Given the description of an element on the screen output the (x, y) to click on. 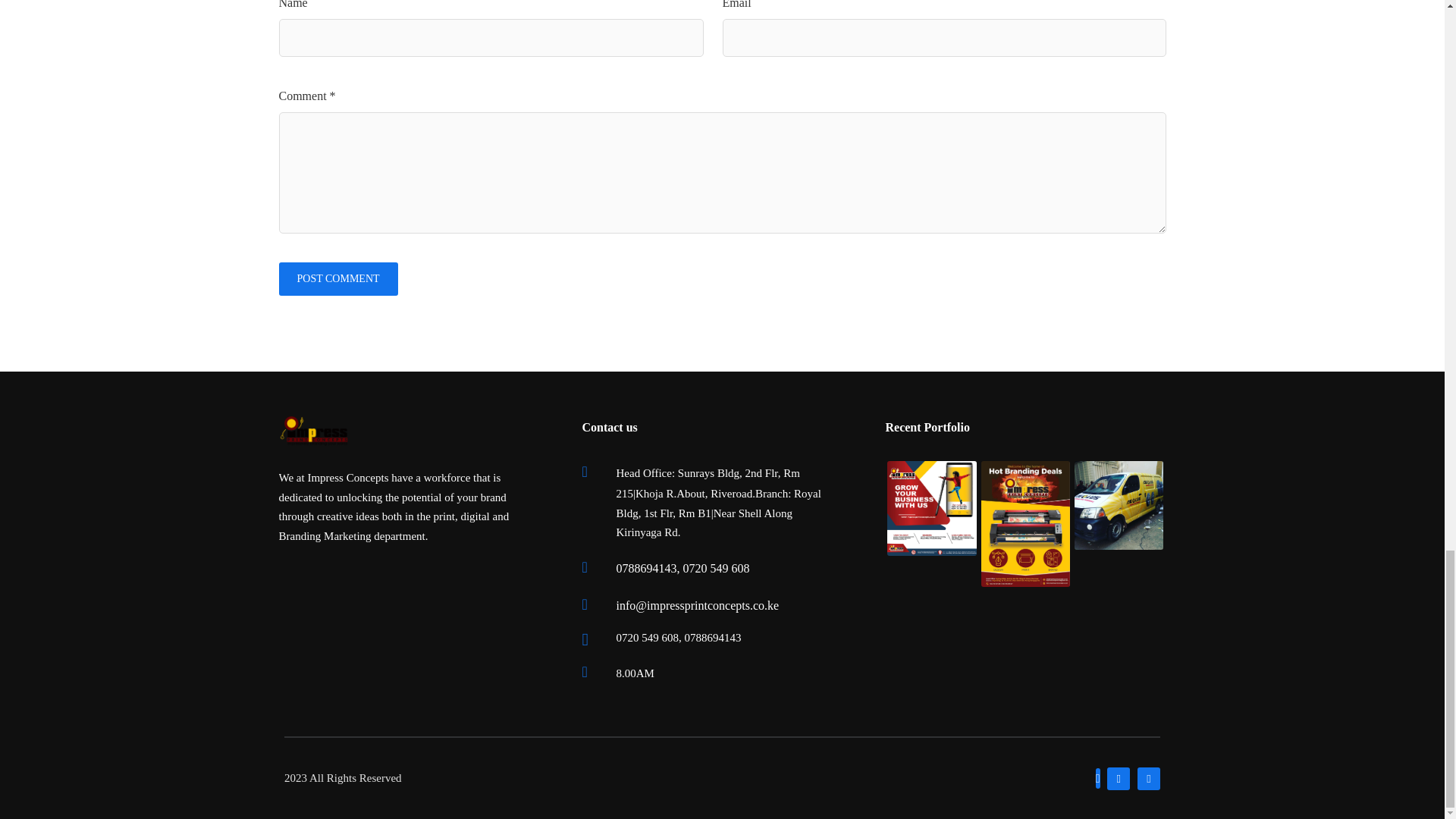
Post Comment (338, 278)
